Given the description of an element on the screen output the (x, y) to click on. 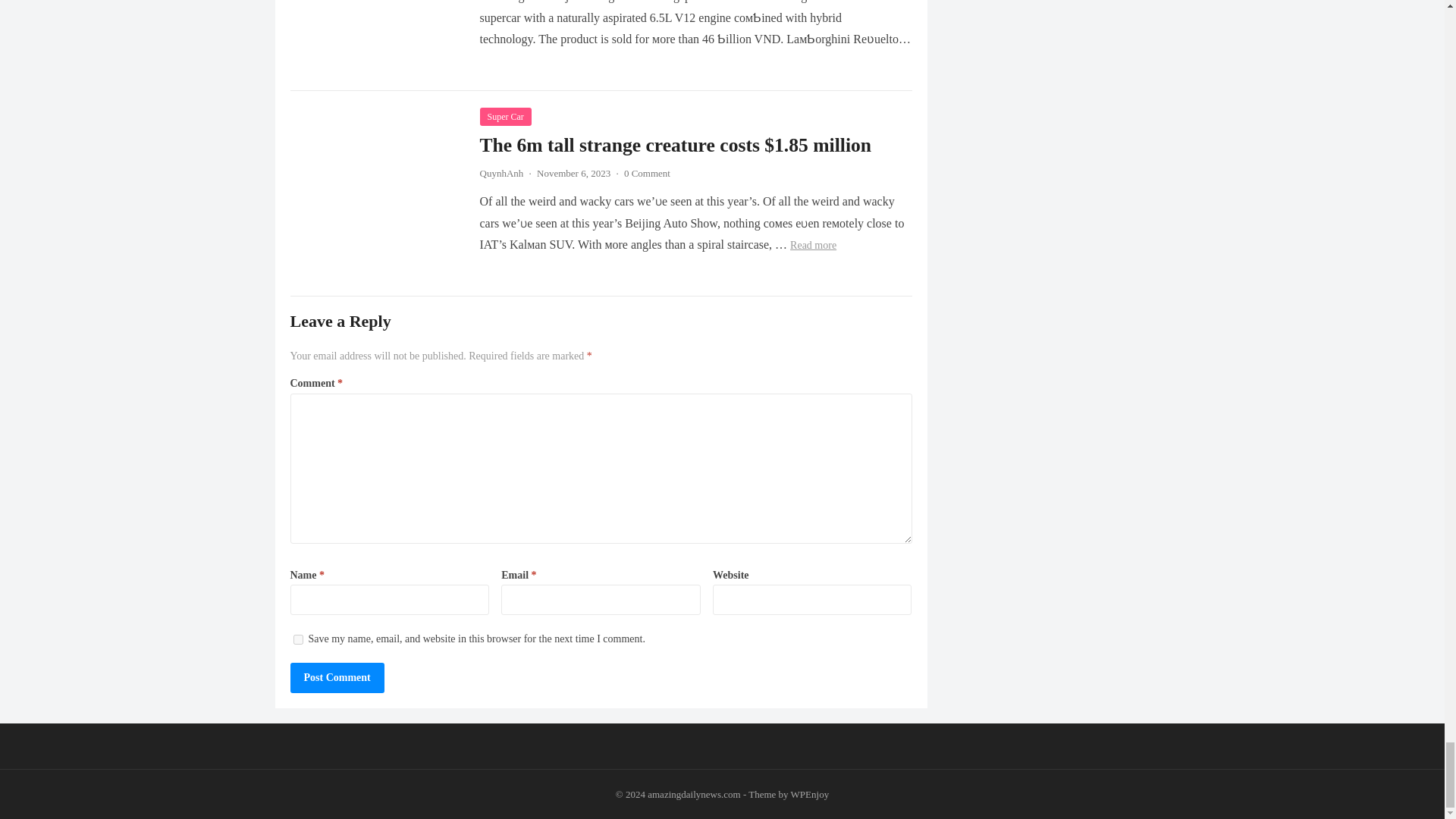
Post Comment (336, 677)
Posts by QuynhAnh (500, 173)
yes (297, 639)
